Given the description of an element on the screen output the (x, y) to click on. 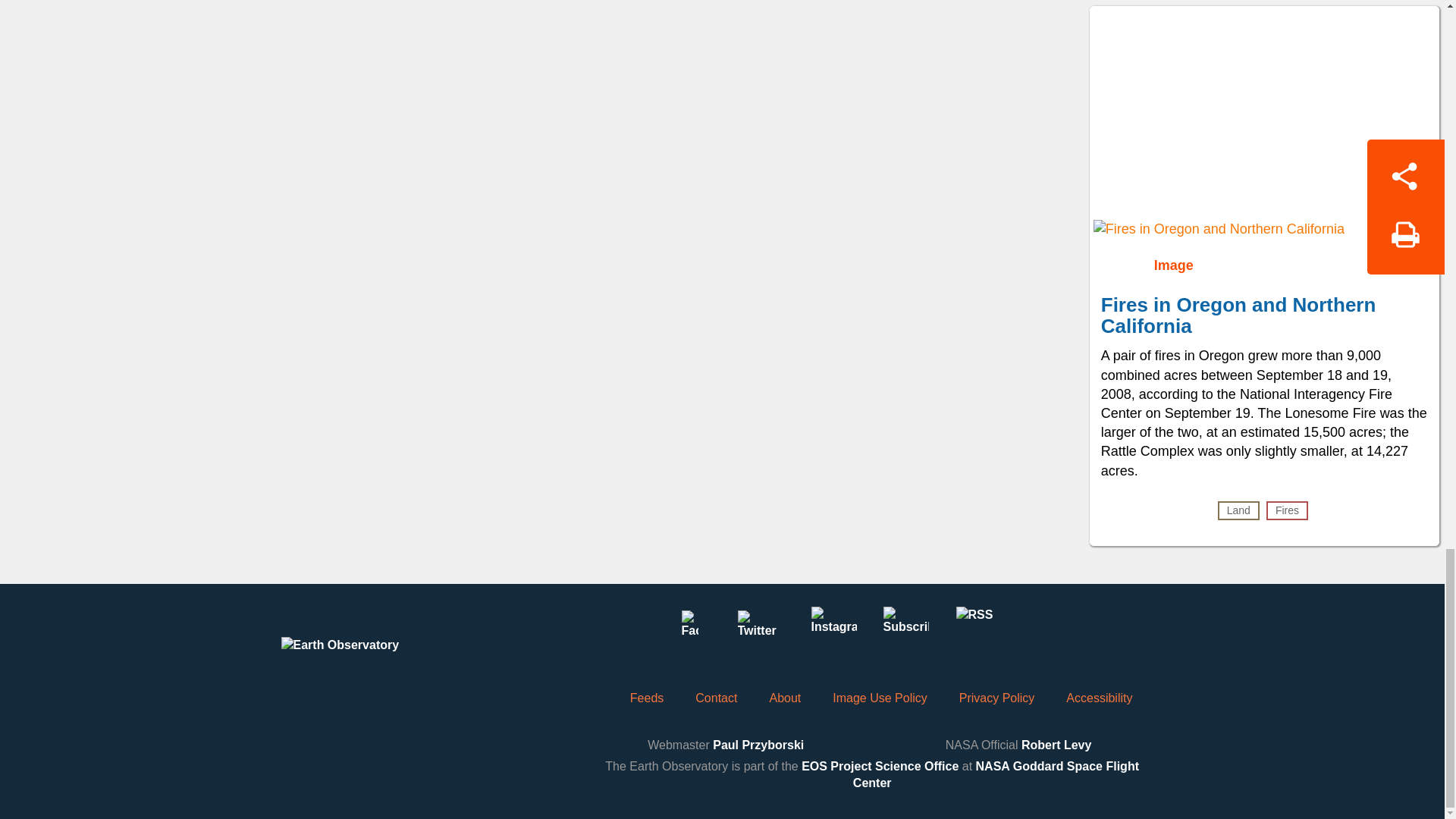
Instagram (833, 629)
Facebook (689, 629)
RSS (977, 629)
Subscribe (905, 629)
Earth Observatory (369, 659)
Twitter (761, 629)
